Given the description of an element on the screen output the (x, y) to click on. 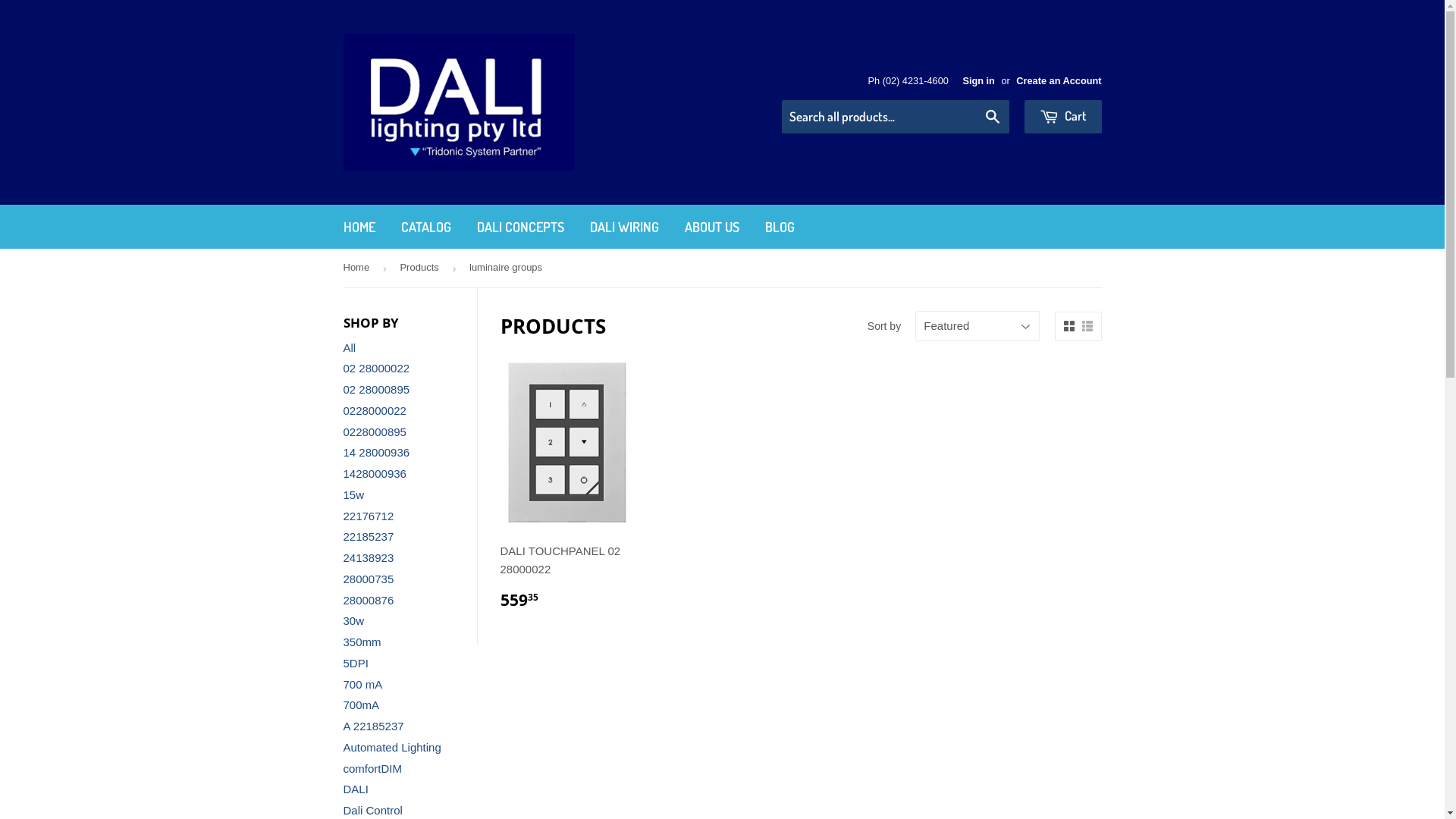
02 28000022 Element type: text (375, 367)
5DPI Element type: text (354, 662)
A 22185237 Element type: text (372, 725)
Dali Control Element type: text (371, 809)
28000735 Element type: text (367, 578)
15w Element type: text (353, 494)
DALI WIRING Element type: text (623, 226)
Sign in Element type: text (978, 80)
DALI TOUCHPANEL 02 28000022
55935 Element type: text (566, 489)
List view Element type: hover (1086, 325)
Cart Element type: text (1062, 116)
28000876 Element type: text (367, 599)
DALI CONCEPTS Element type: text (520, 226)
30w Element type: text (353, 620)
ABOUT US Element type: text (711, 226)
CATALOG Element type: text (425, 226)
Automated Lighting Element type: text (391, 746)
Products Element type: text (421, 267)
24138923 Element type: text (367, 557)
BLOG Element type: text (779, 226)
comfortDIM Element type: text (371, 768)
Grid view Element type: hover (1068, 325)
700mA Element type: text (360, 704)
Home Element type: text (358, 267)
DALI Element type: text (354, 788)
350mm Element type: text (361, 641)
22185237 Element type: text (367, 536)
All Element type: text (348, 347)
Create an Account Element type: text (1058, 80)
02 28000895 Element type: text (375, 388)
HOME Element type: text (359, 226)
1428000936 Element type: text (373, 473)
0228000895 Element type: text (373, 431)
0228000022 Element type: text (373, 410)
14 28000936 Element type: text (375, 451)
700 mA Element type: text (362, 683)
22176712 Element type: text (367, 515)
Search Element type: text (992, 117)
